Given the description of an element on the screen output the (x, y) to click on. 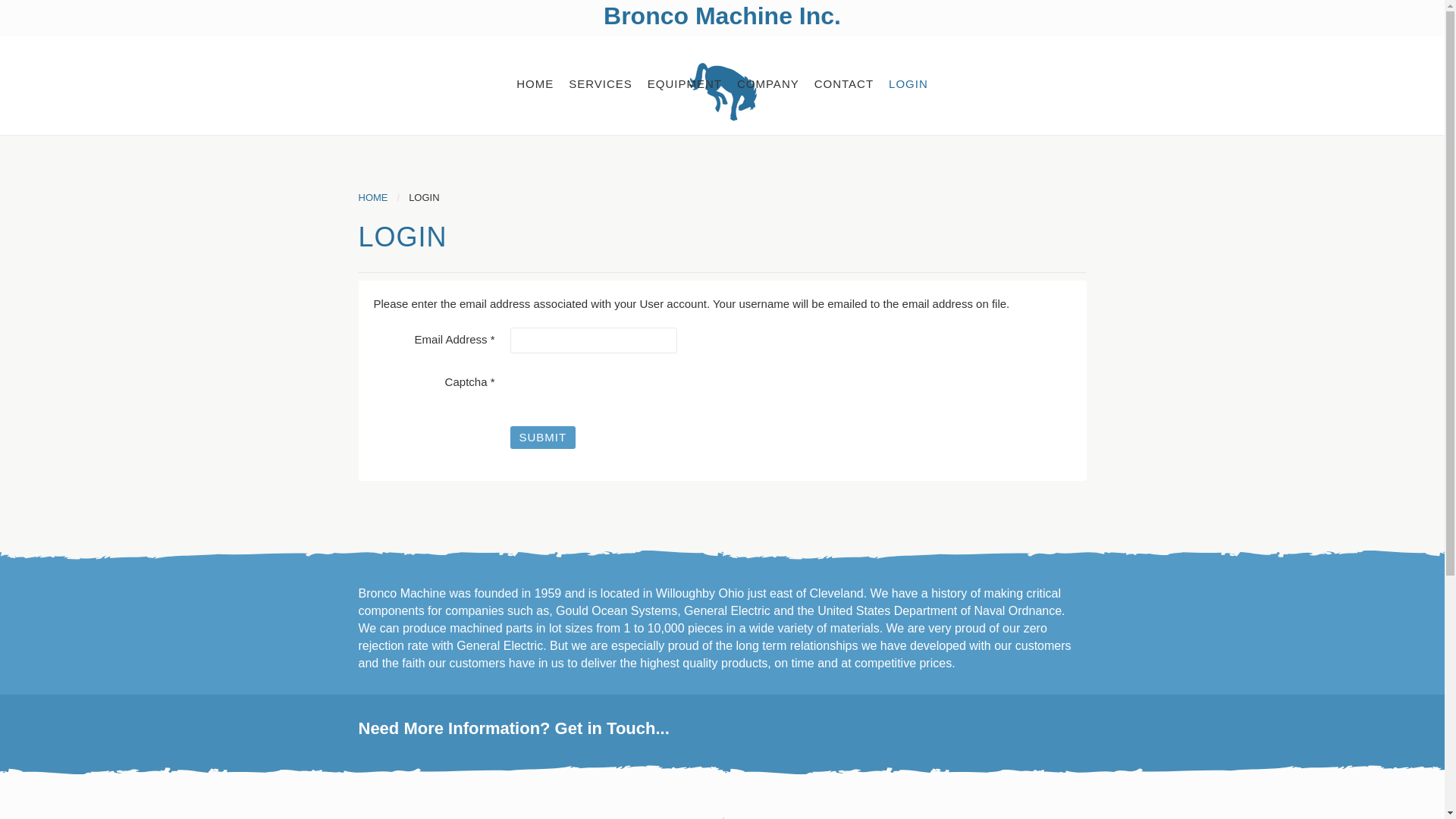
Need More Information? Get in Touch... (722, 728)
HOME (372, 197)
HOME (534, 82)
EQUIPMENT (684, 82)
SUBMIT (542, 436)
COMPANY (767, 82)
SERVICES (600, 82)
LOGIN (908, 82)
CONTACT (843, 82)
